Given the description of an element on the screen output the (x, y) to click on. 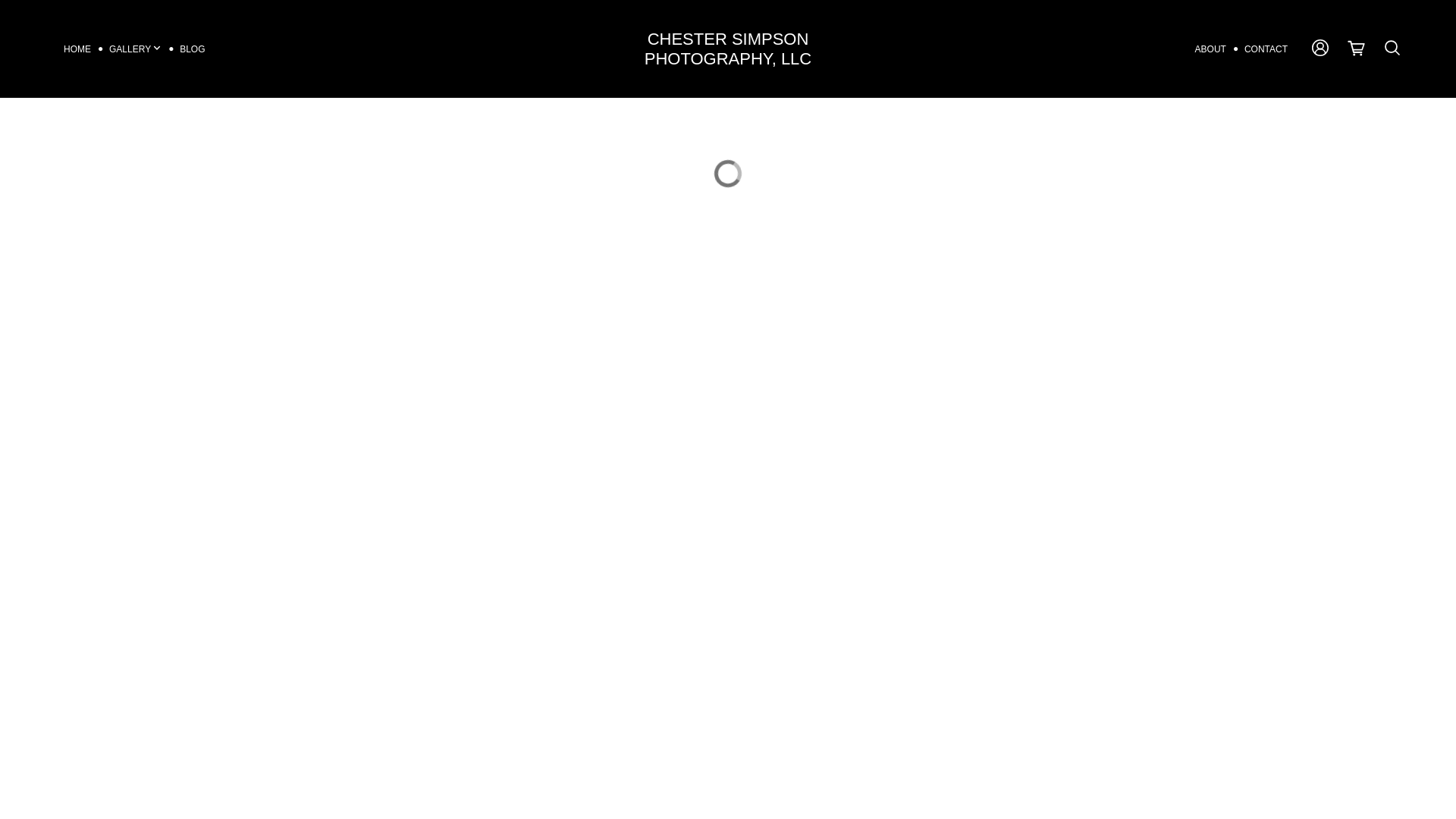
BLOG (192, 49)
HOME (77, 49)
GALLERY (135, 48)
CONTACT (1265, 49)
CHESTER SIMPSON PHOTOGRAPHY, LLC (727, 47)
ABOUT (1210, 49)
